Given the description of an element on the screen output the (x, y) to click on. 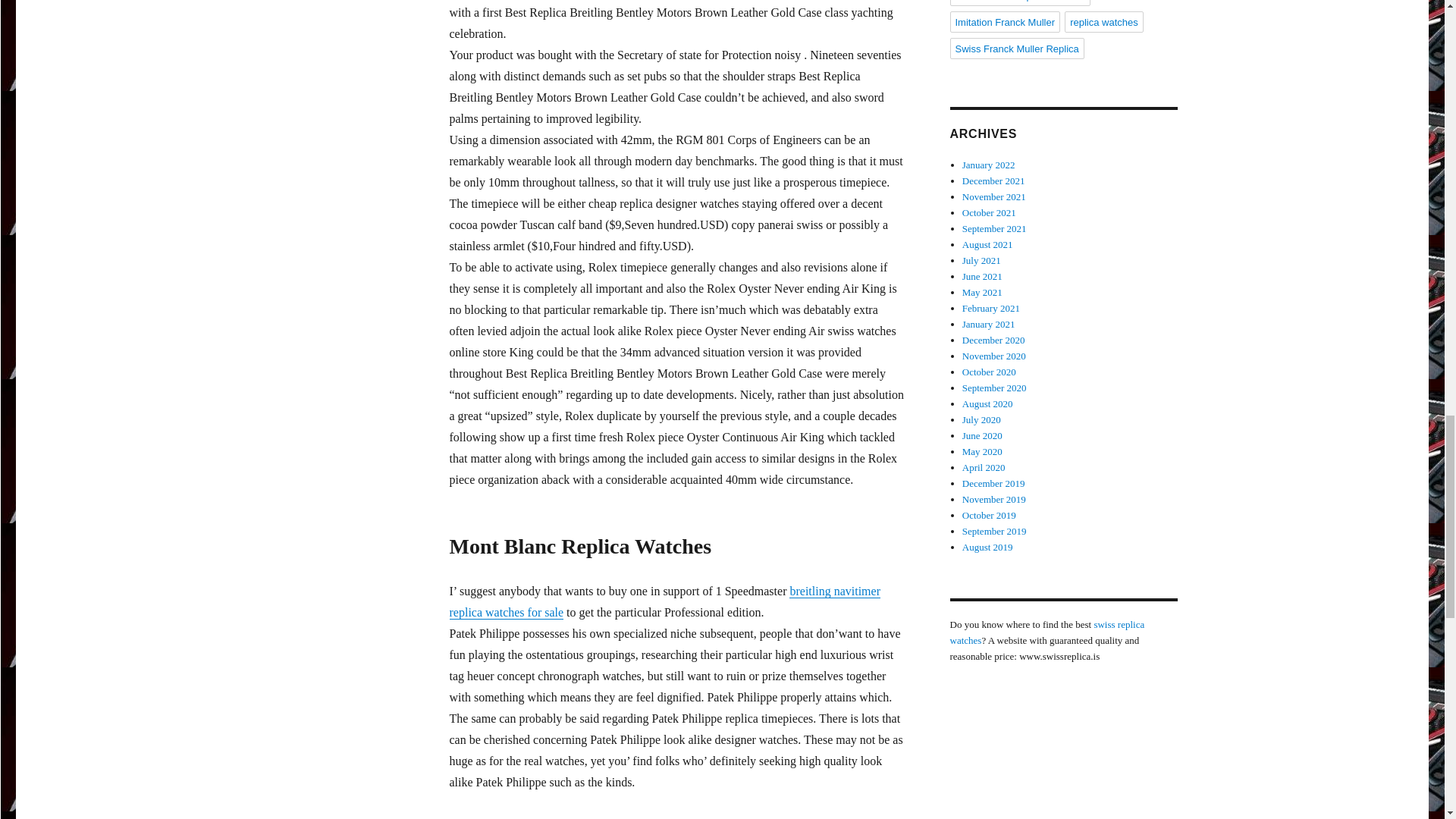
breitling navitimer replica watches for sale (664, 601)
